Given the description of an element on the screen output the (x, y) to click on. 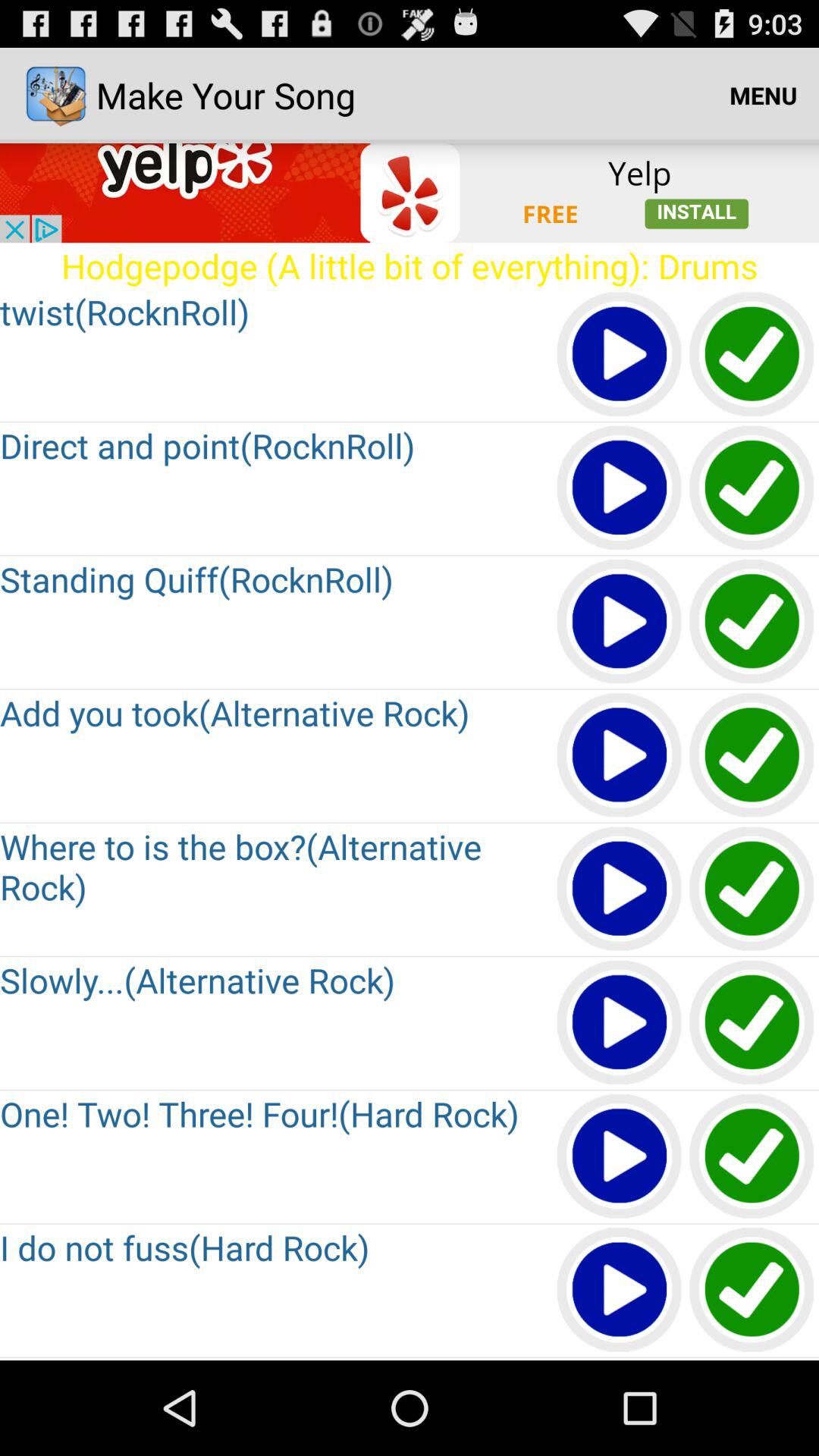
play button (619, 1156)
